Given the description of an element on the screen output the (x, y) to click on. 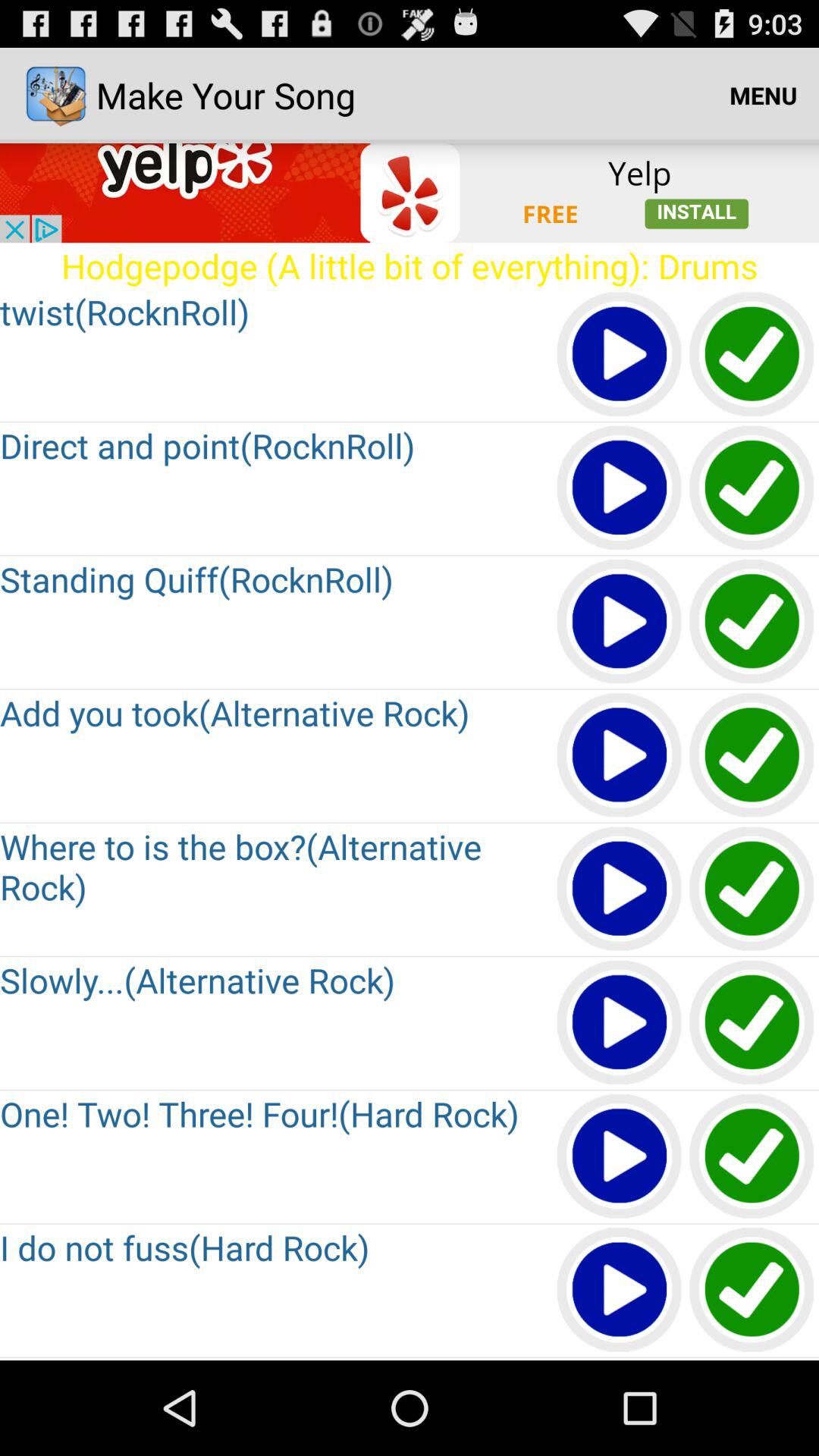
play button (619, 1156)
